Given the description of an element on the screen output the (x, y) to click on. 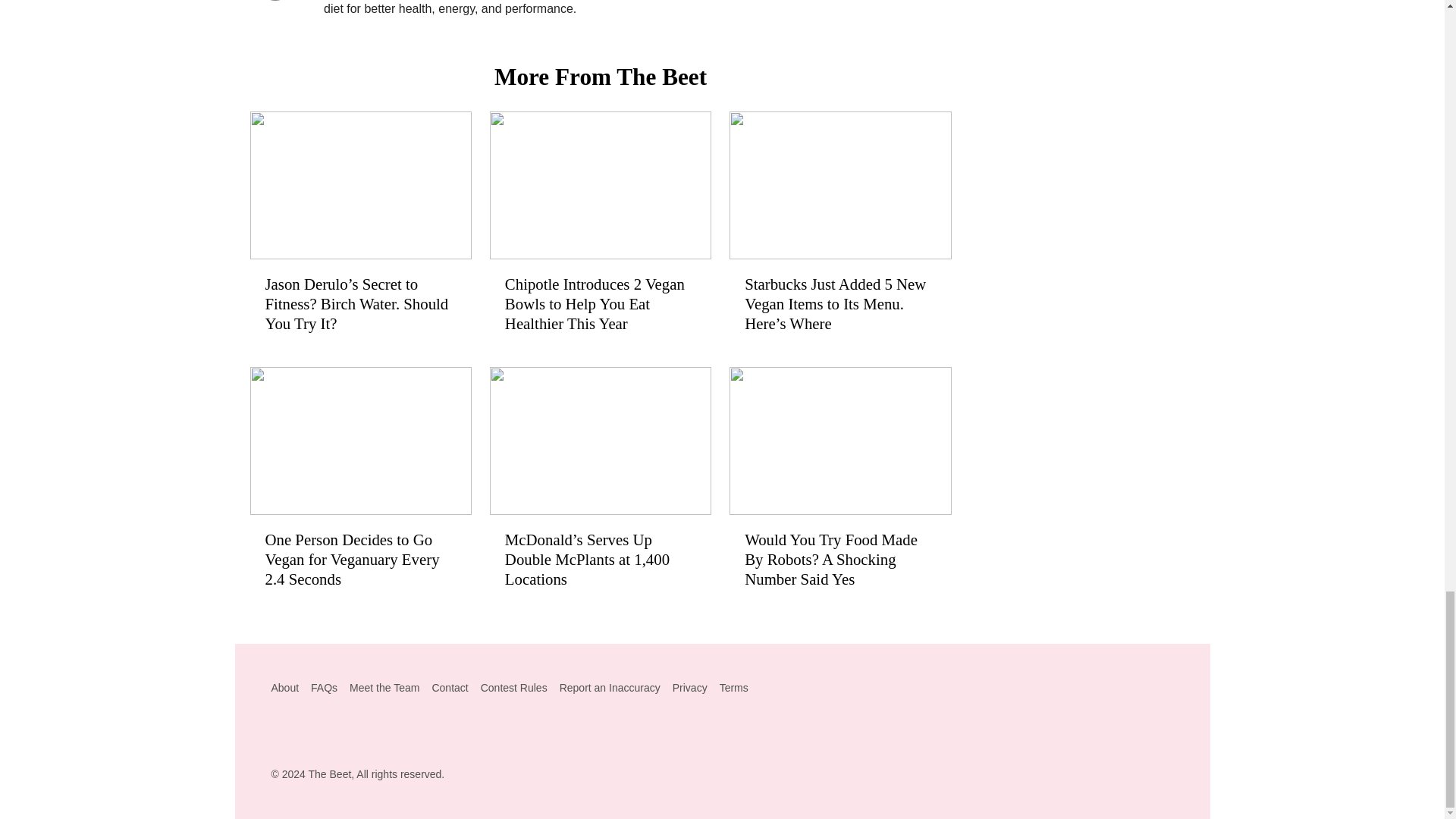
FAQs (324, 687)
About (284, 687)
